Given the description of an element on the screen output the (x, y) to click on. 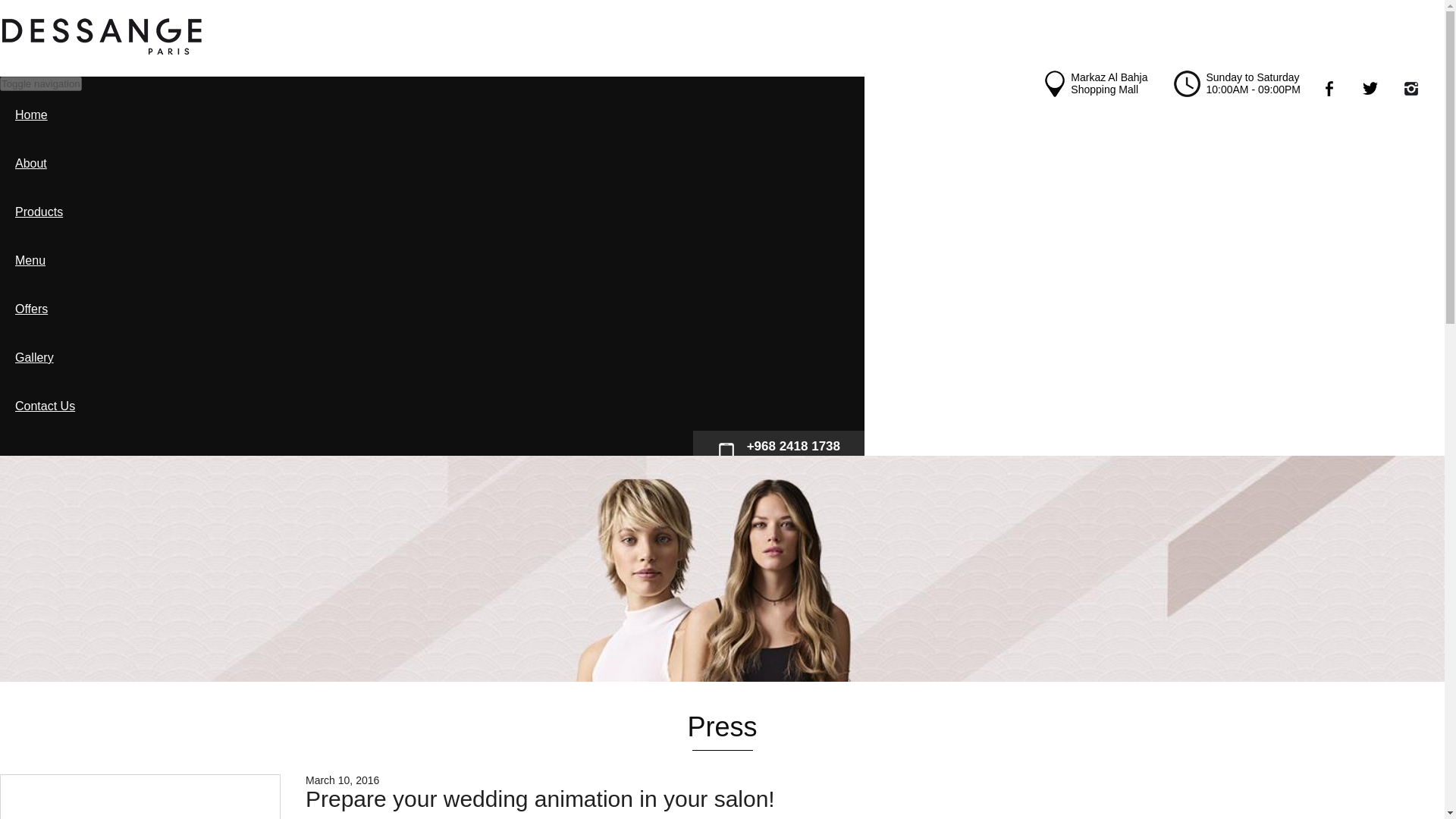
About (431, 163)
Contact Us (431, 406)
Home (101, 51)
Offers (431, 309)
Products (431, 212)
Twitter (1382, 92)
Toggle navigation (40, 83)
Menu (431, 260)
Prepare your wedding animation in your salon! (140, 796)
Home (431, 114)
Facebook (1342, 92)
Gallery (431, 357)
